Given the description of an element on the screen output the (x, y) to click on. 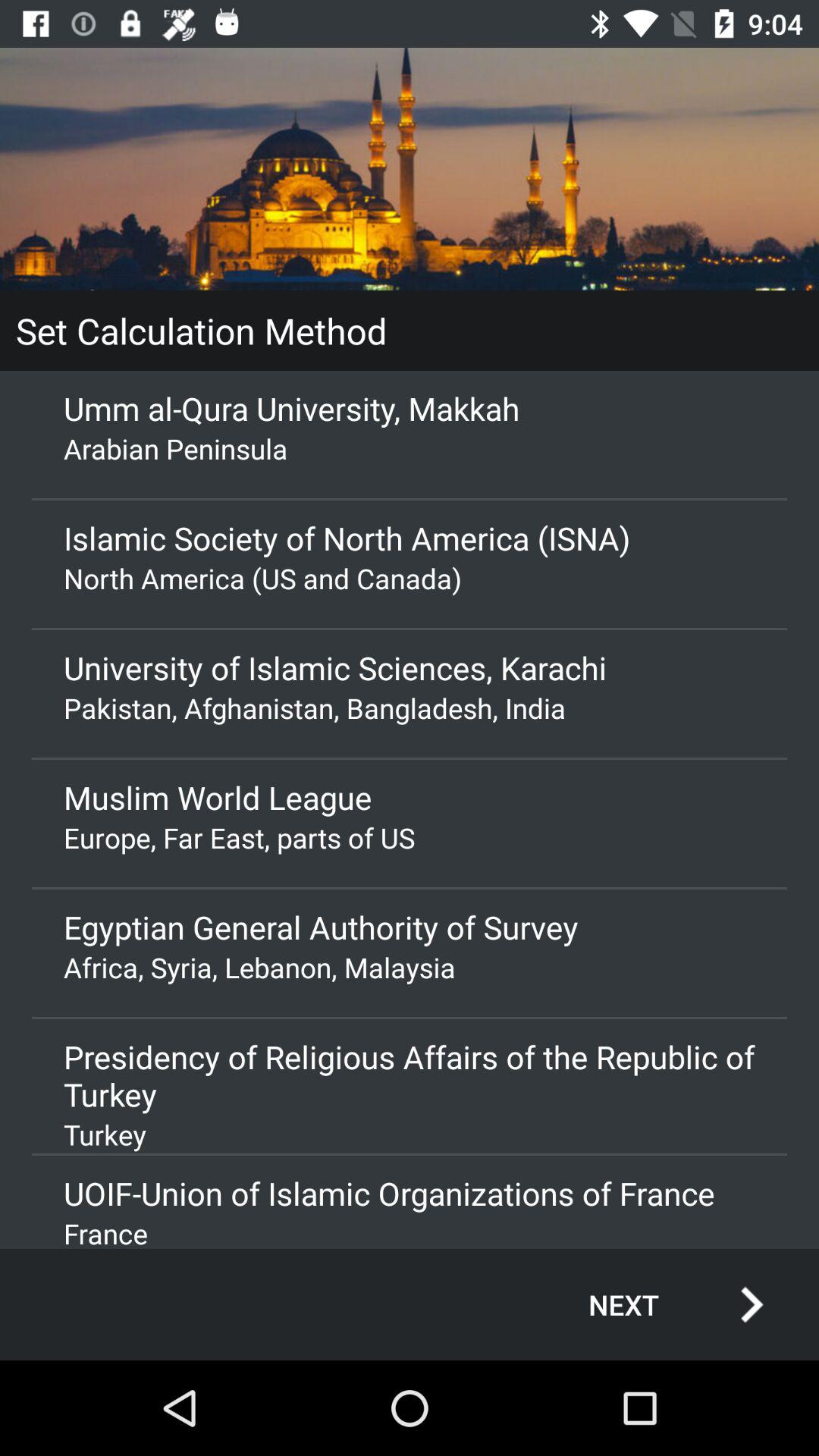
open the item below africa syria lebanon icon (409, 1075)
